Given the description of an element on the screen output the (x, y) to click on. 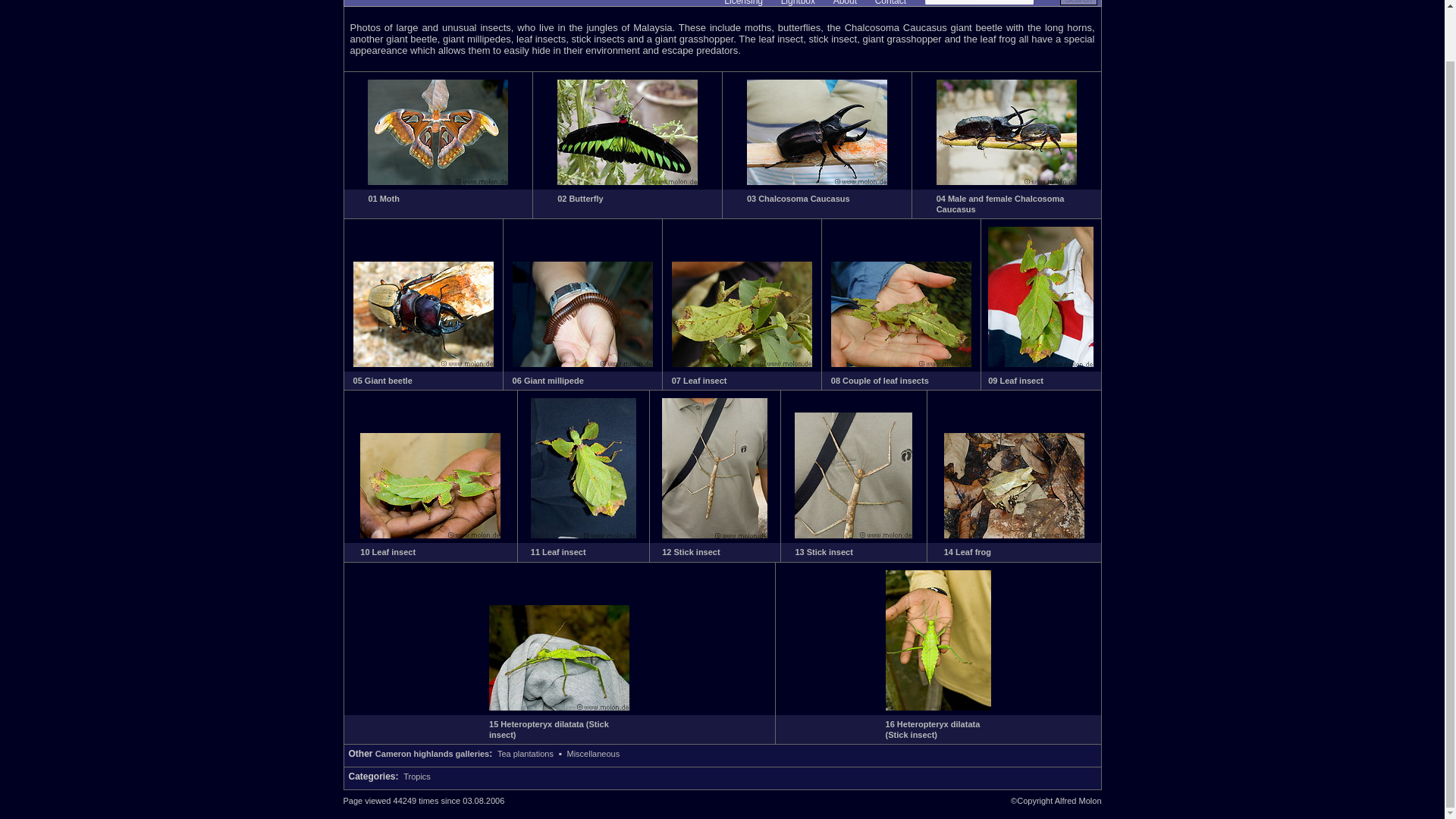
Image MA11004 - click to enlarge (582, 363)
Image MA11003 - click to enlarge (423, 363)
11 Leaf insect (558, 551)
Image MA11011 - click to enlarge (853, 534)
About this site (844, 2)
Image MA11009 - click to enlarge (583, 534)
07 Leaf insect (698, 379)
Image MA11013 - click to enlarge (558, 706)
Licensing (743, 2)
Information on how to license images (743, 2)
